Given the description of an element on the screen output the (x, y) to click on. 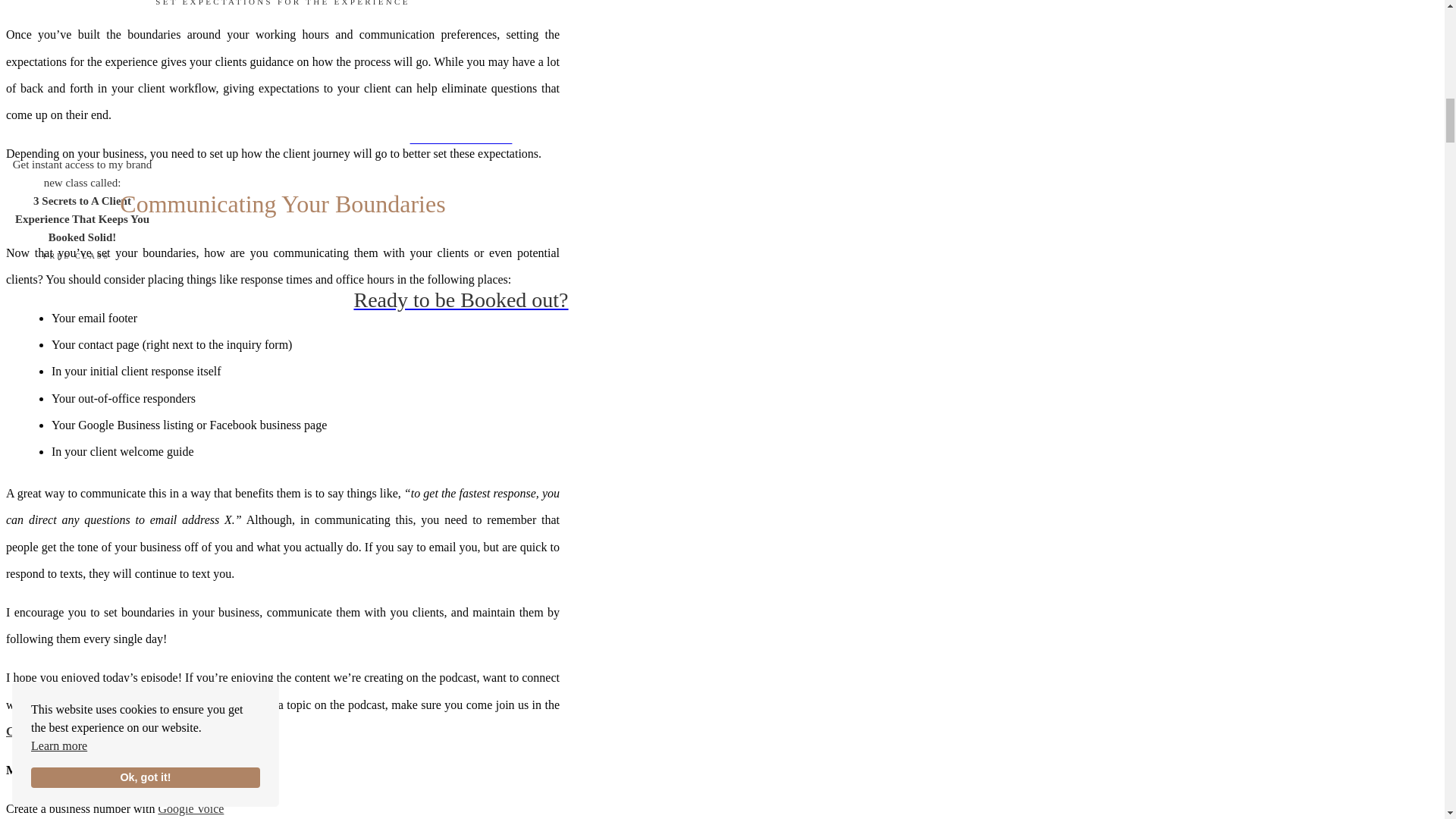
Ready to be Booked out? (460, 300)
Google Voice (190, 808)
Called to Both Facebook Group (88, 730)
